Given the description of an element on the screen output the (x, y) to click on. 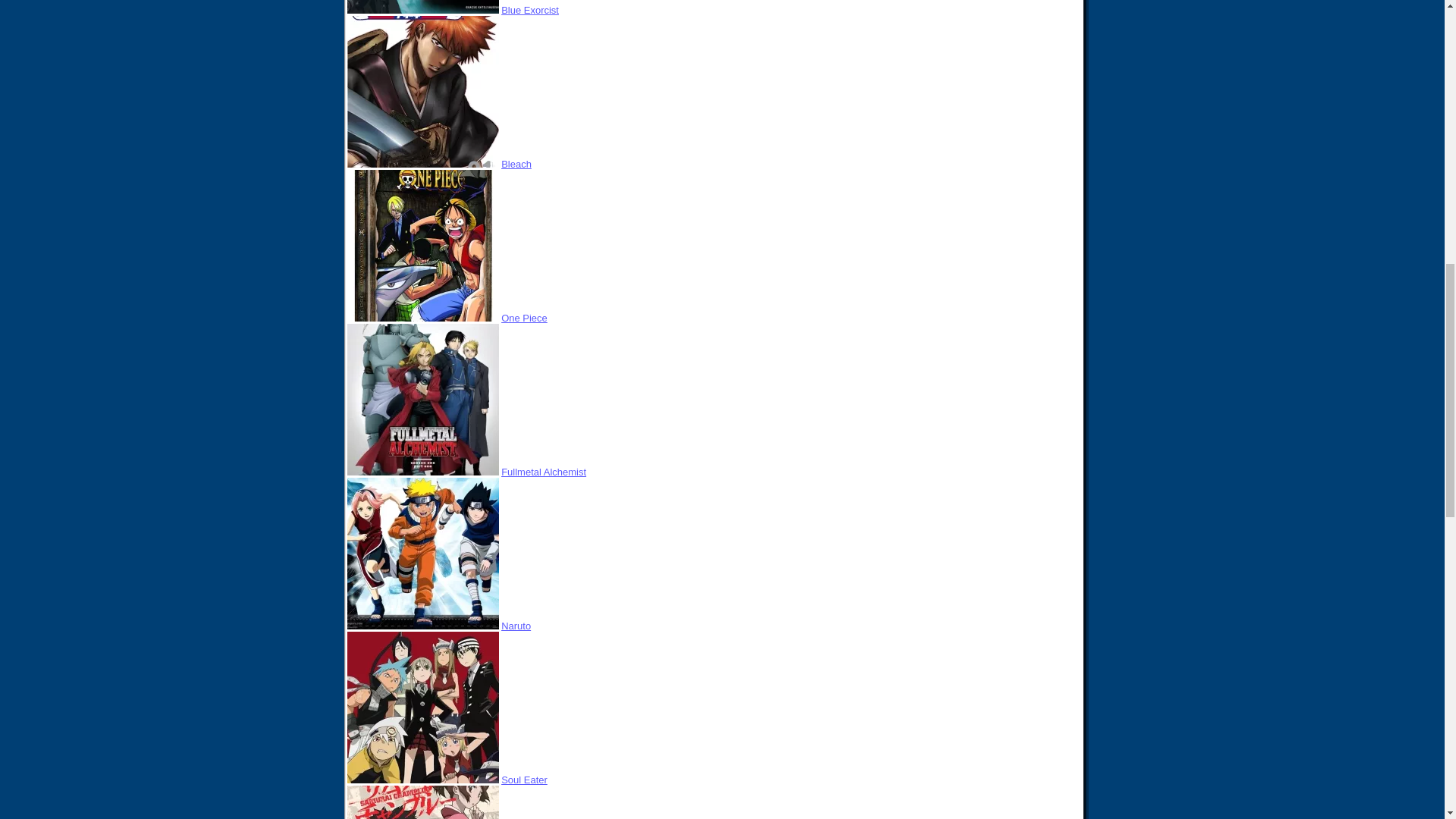
Blue Exorcist (529, 9)
Fullmetal Alchemist (543, 471)
Soul Eater (523, 779)
Naruto (515, 625)
Bleach (515, 163)
One Piece (523, 317)
